Given the description of an element on the screen output the (x, y) to click on. 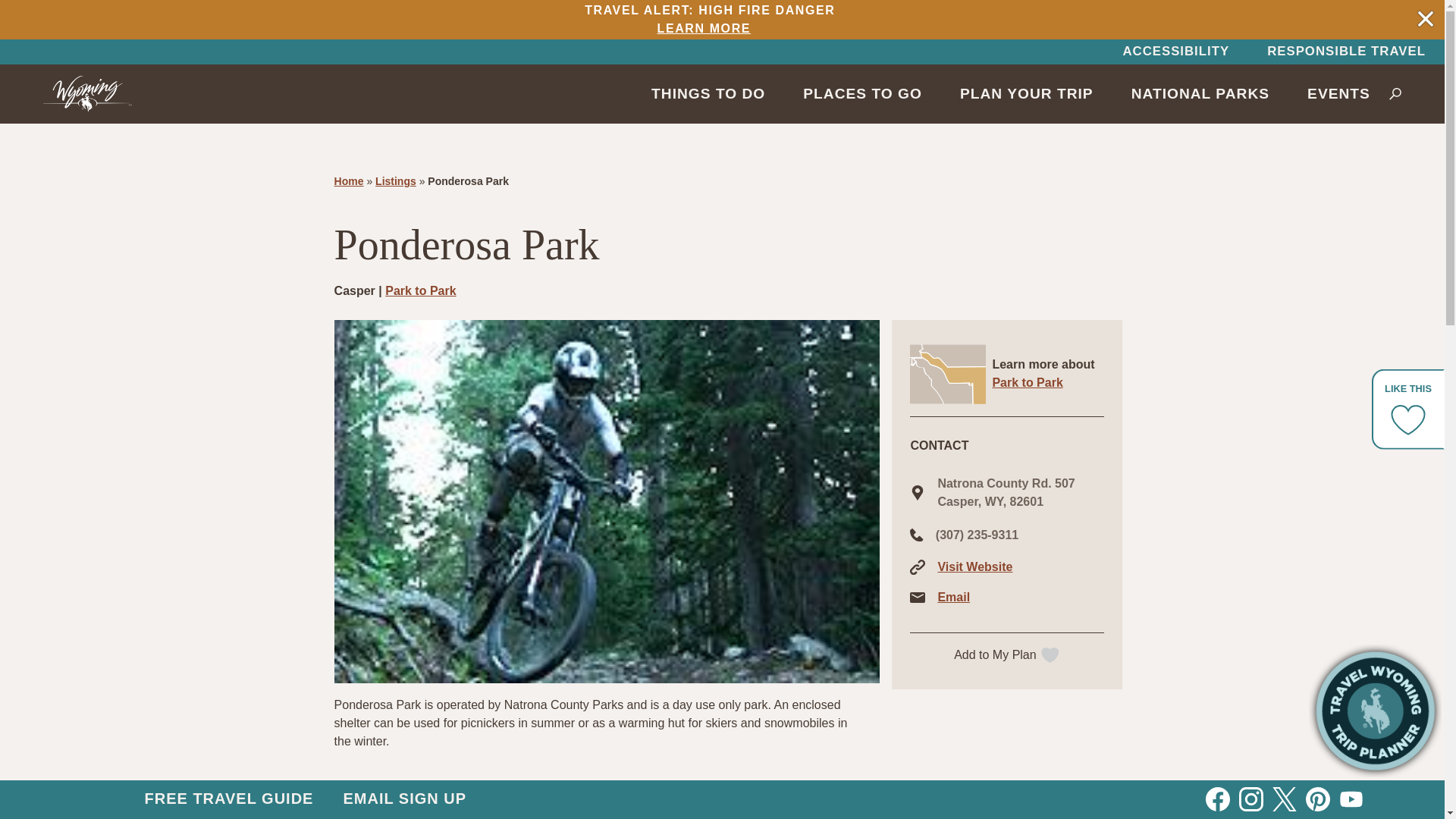
EVENTS (1338, 93)
Travel Wyoming home (87, 93)
PLACES TO GO (862, 93)
THINGS TO DO (707, 93)
ACCESSIBILITY (706, 20)
RESPONSIBLE TRAVEL (1175, 51)
NATIONAL PARKS (1345, 51)
PLAN YOUR TRIP (1200, 93)
